Given the description of an element on the screen output the (x, y) to click on. 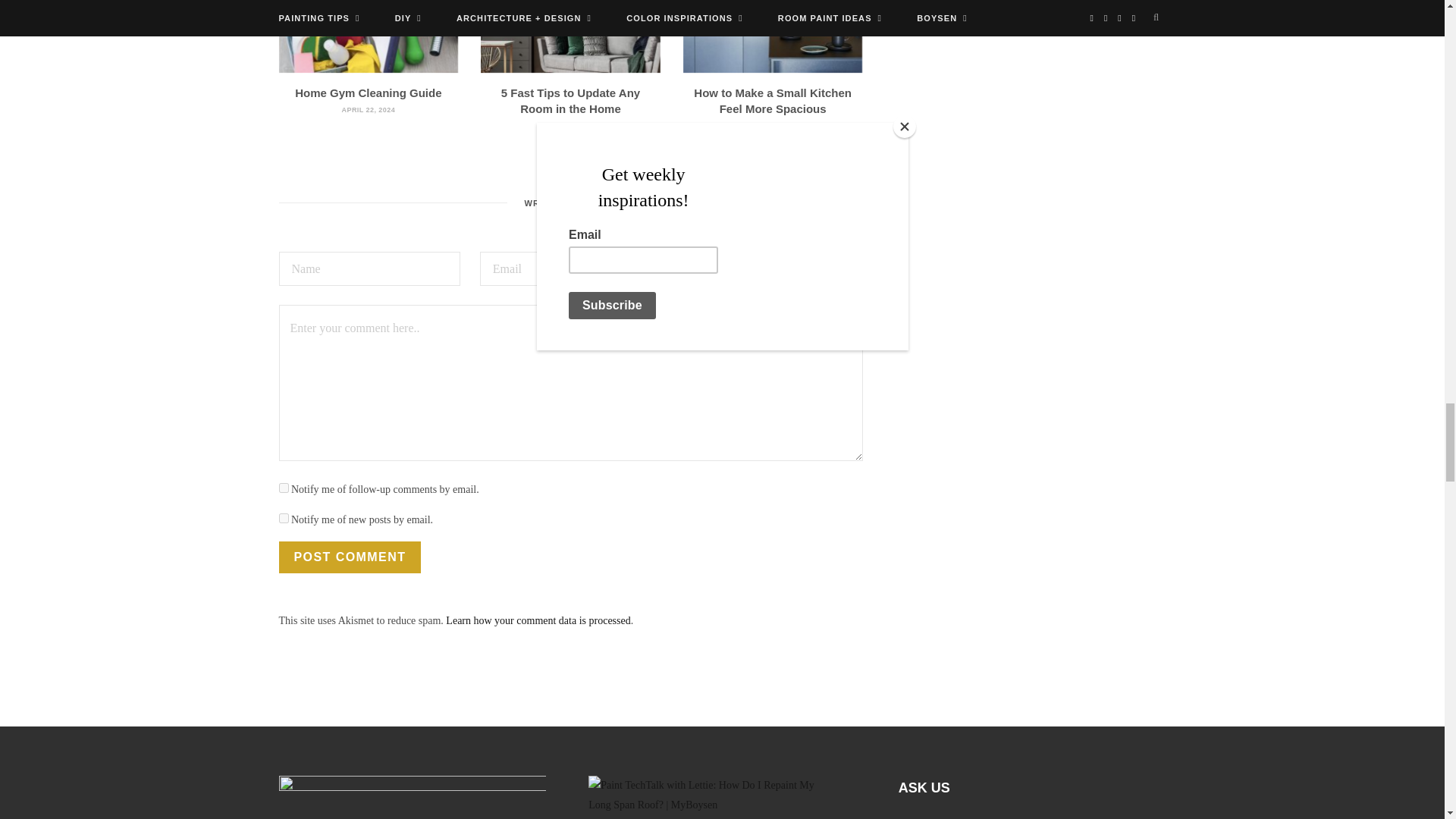
subscribe (283, 488)
subscribe (283, 518)
Post Comment (350, 557)
